Given the description of an element on the screen output the (x, y) to click on. 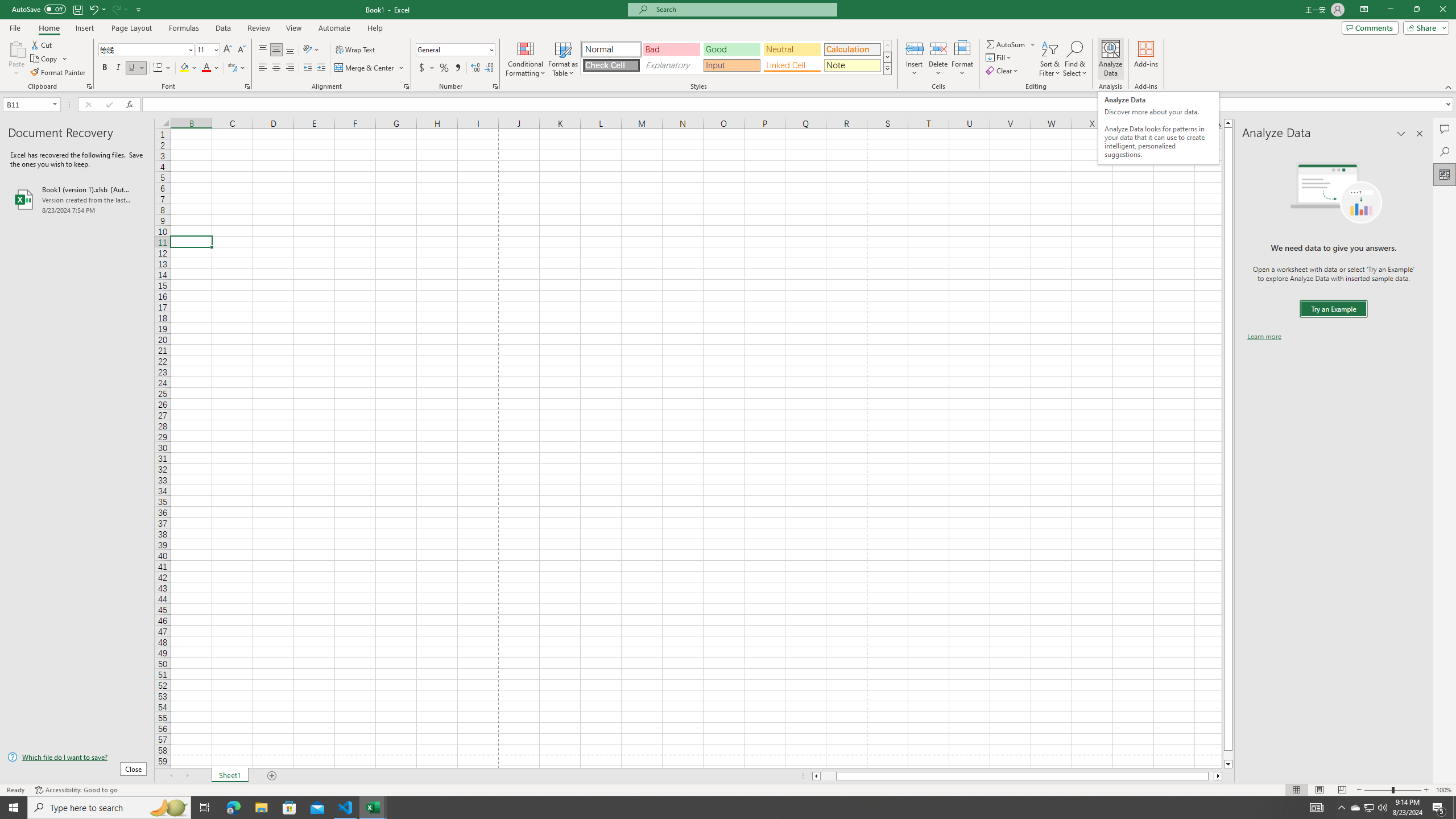
Cell Styles (887, 68)
Underline (136, 67)
Font (142, 49)
Page Break Preview (1342, 790)
Home (48, 28)
Top Align (262, 49)
File Tab (15, 27)
Clear (1003, 69)
Format Painter (58, 72)
